Given the description of an element on the screen output the (x, y) to click on. 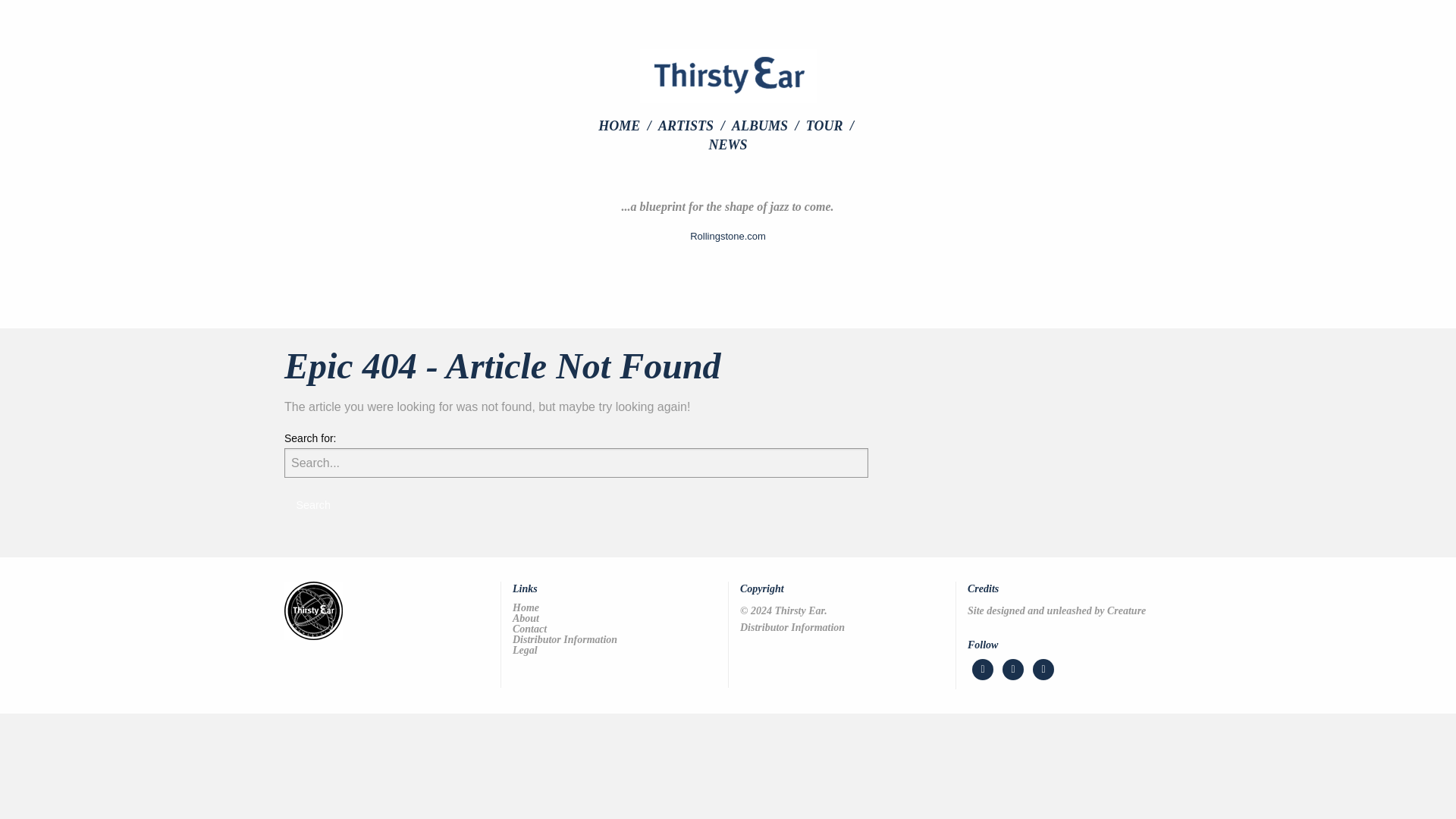
Distributor Information (791, 627)
Search for: (575, 462)
ALBUMS (767, 125)
Search (312, 504)
Legal (614, 650)
Creature (1125, 610)
Search (312, 504)
Distributor Information (791, 627)
ARTISTS (693, 125)
Home (614, 607)
